Given the description of an element on the screen output the (x, y) to click on. 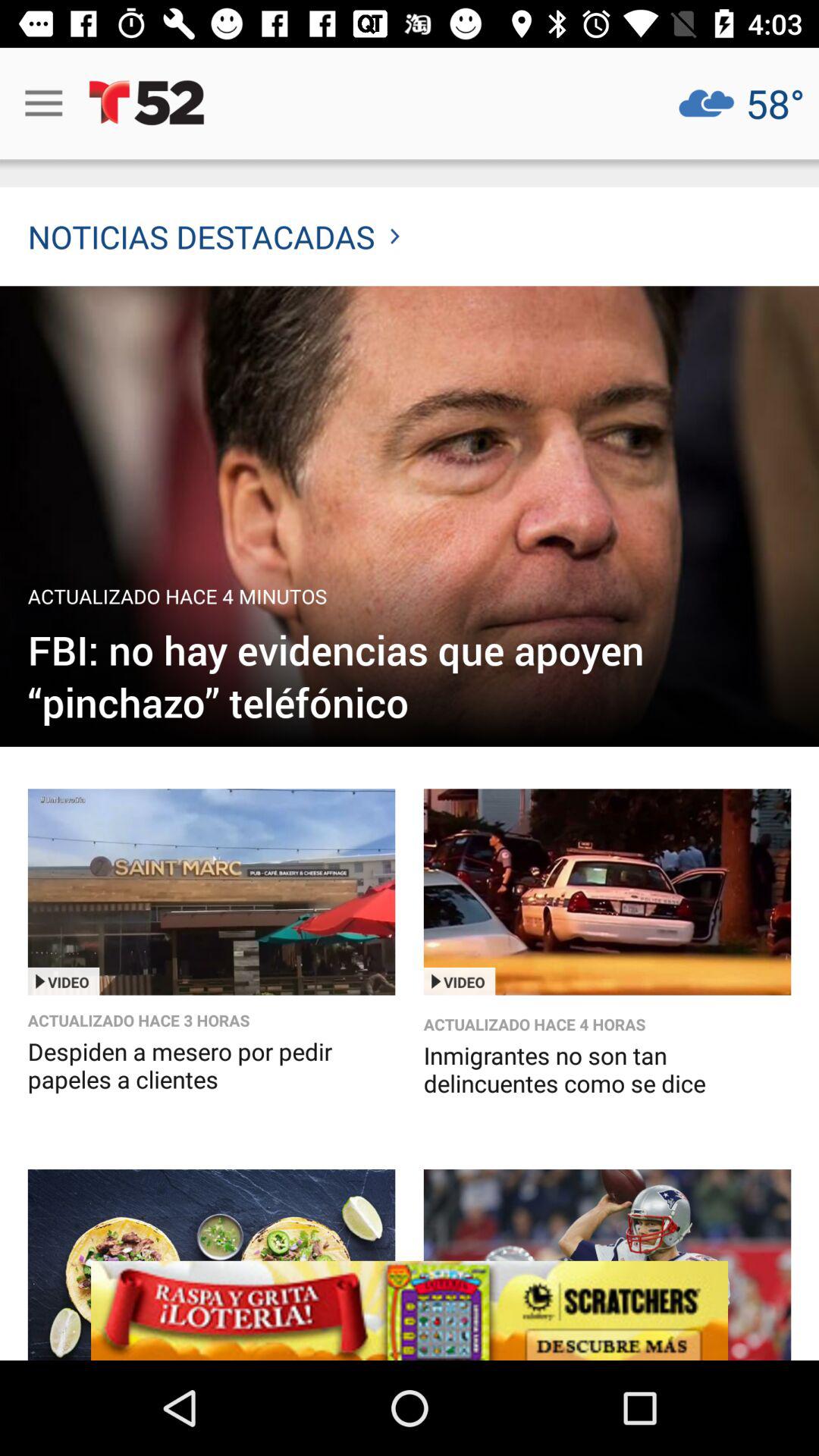
open story (211, 891)
